Given the description of an element on the screen output the (x, y) to click on. 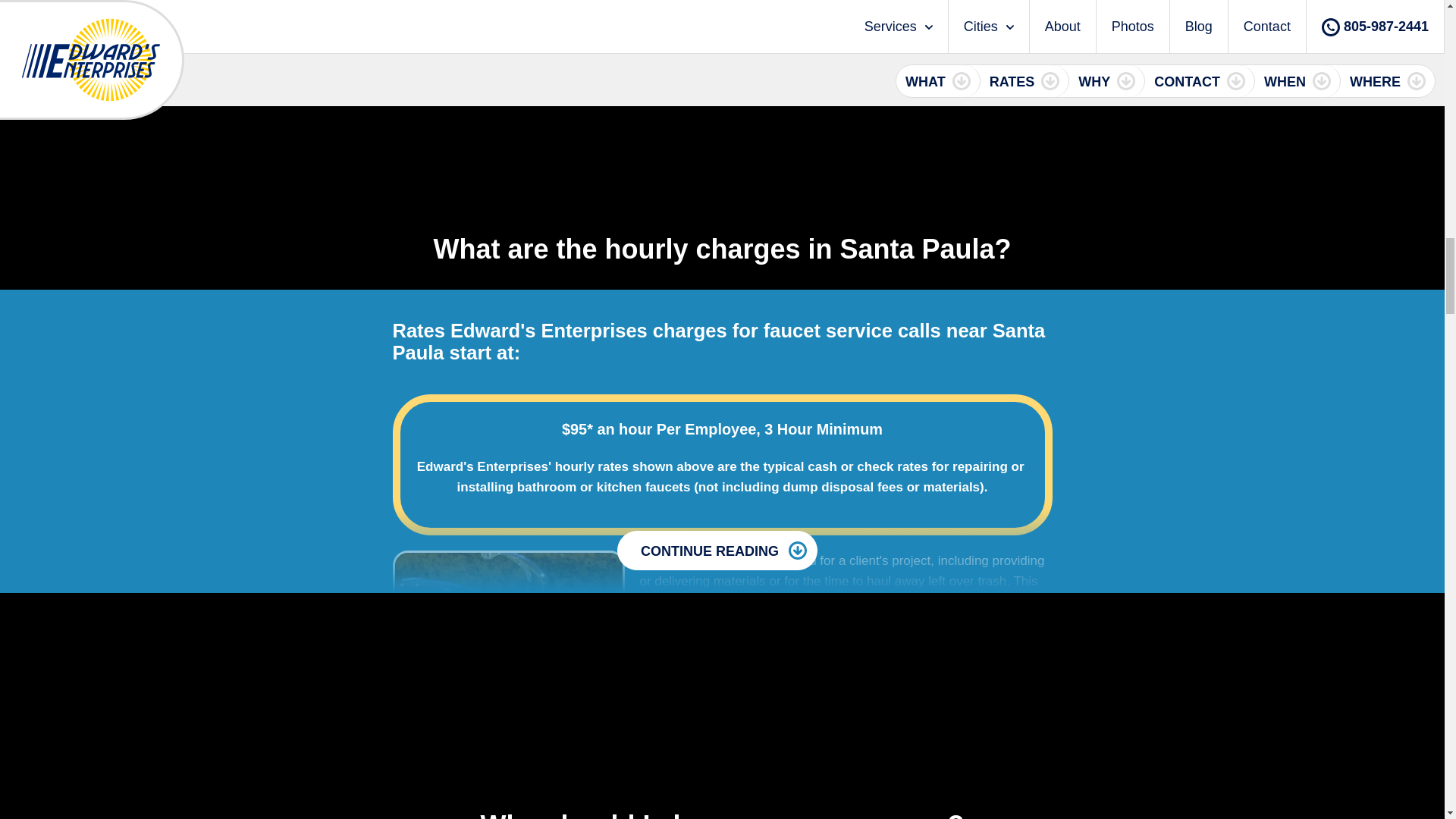
Plumbing Faucet Leaky Repairs - Plumbing (508, 628)
